Given the description of an element on the screen output the (x, y) to click on. 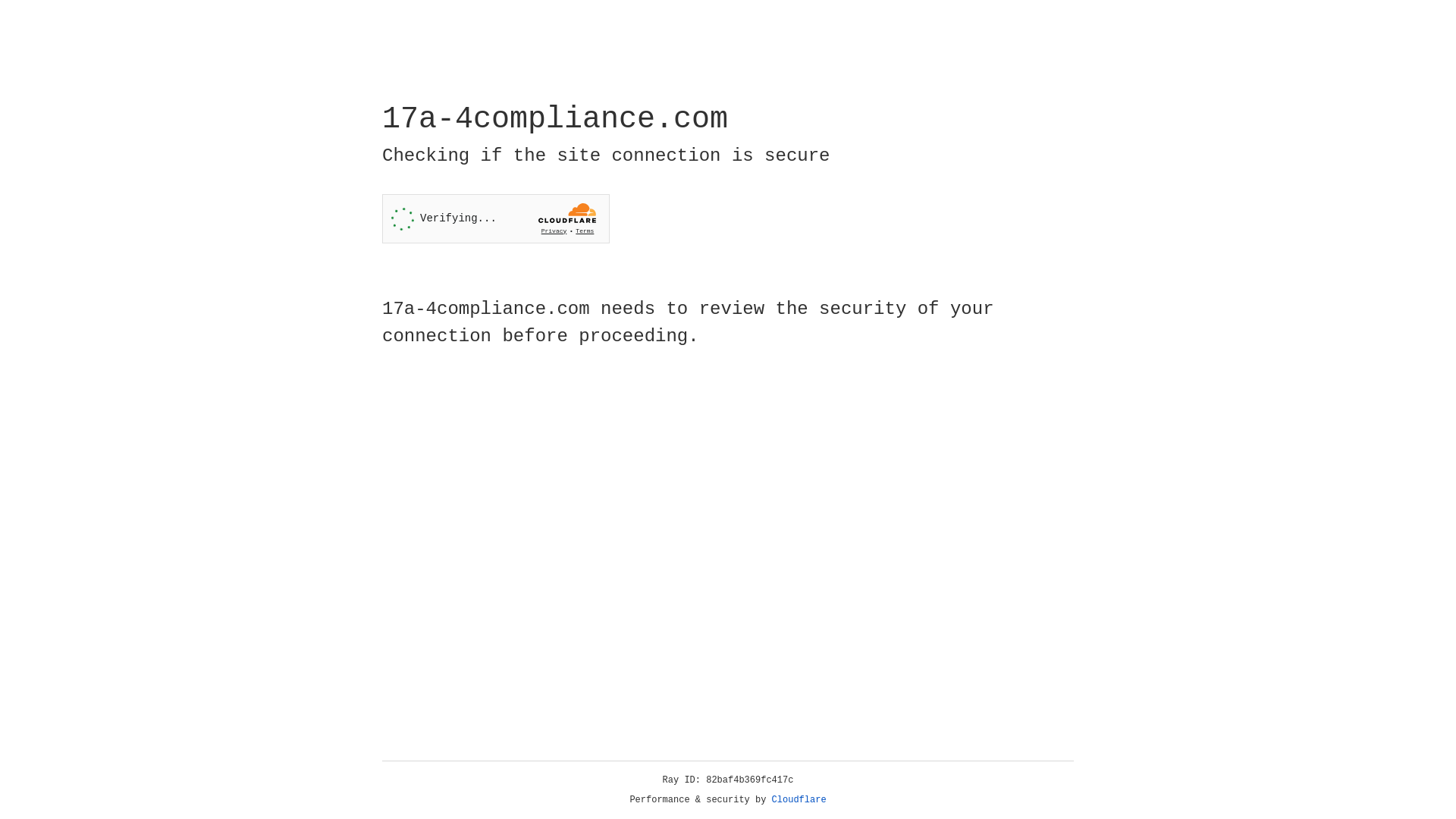
Widget containing a Cloudflare security challenge Element type: hover (495, 218)
Cloudflare Element type: text (798, 799)
